Given the description of an element on the screen output the (x, y) to click on. 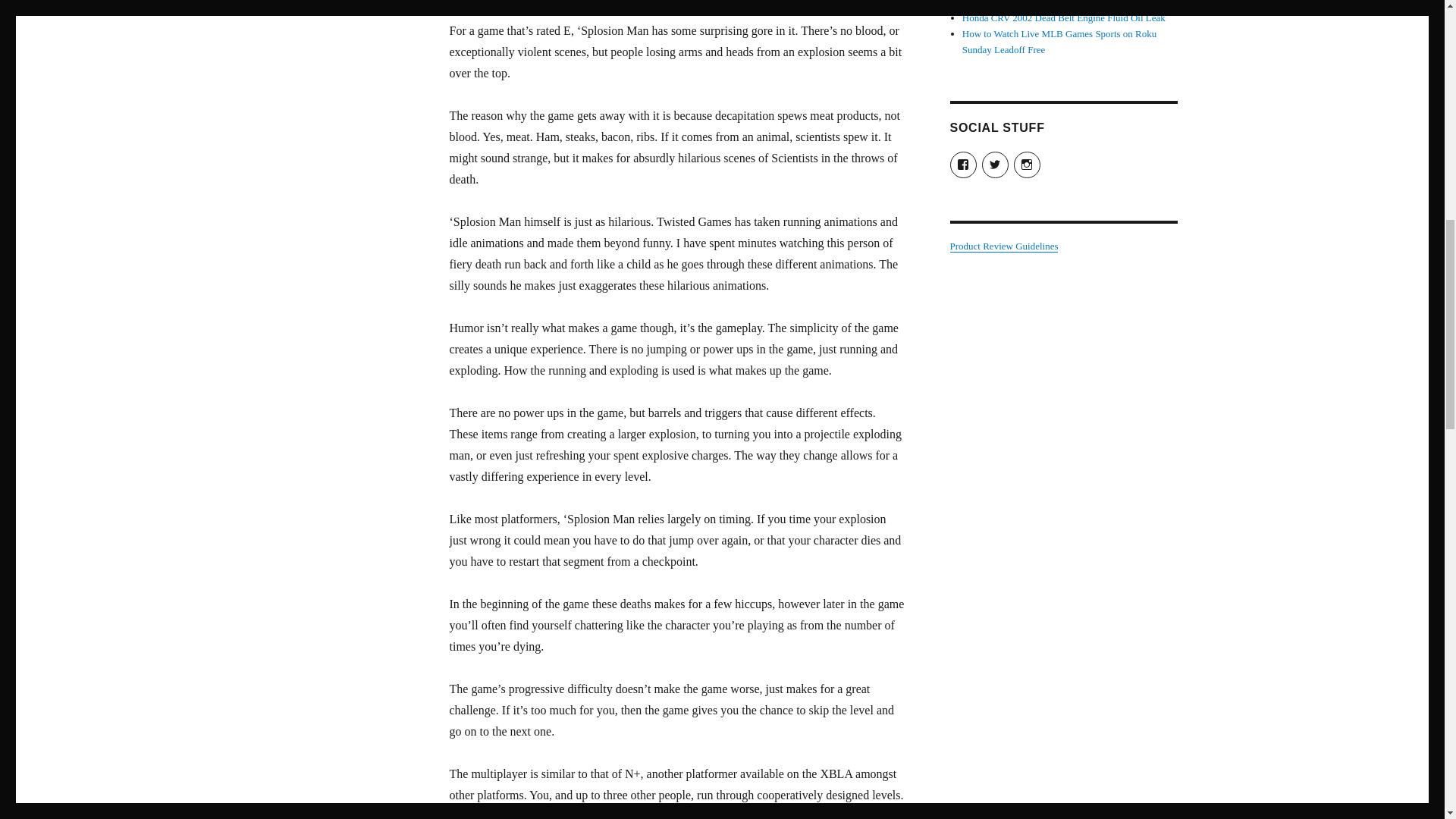
Honda CRV 2002 Dead Belt Engine Fluid Oil Leak (1064, 17)
